Given the description of an element on the screen output the (x, y) to click on. 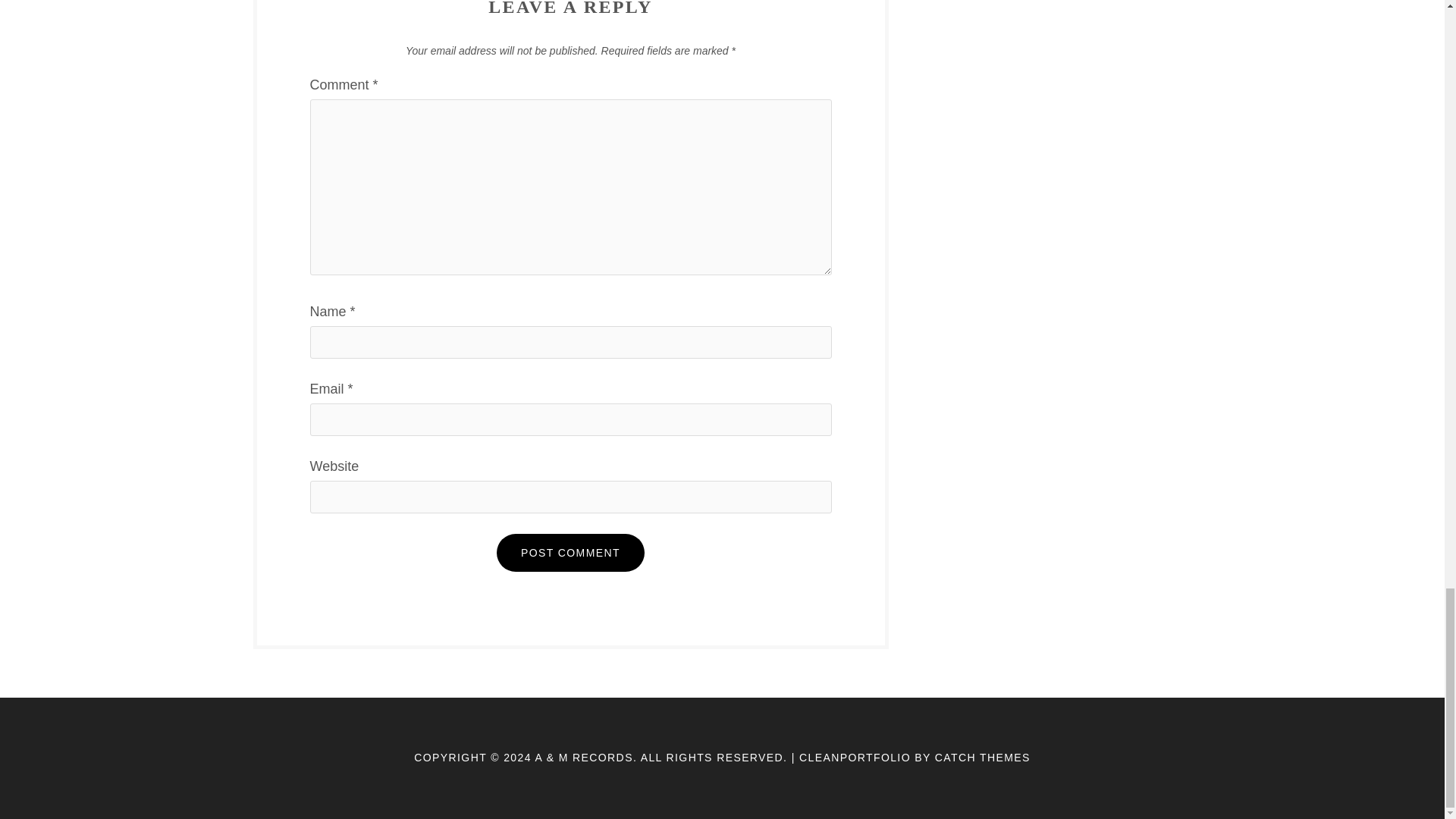
CATCH THEMES (982, 757)
Post Comment (570, 552)
Post Comment (570, 552)
